Given the description of an element on the screen output the (x, y) to click on. 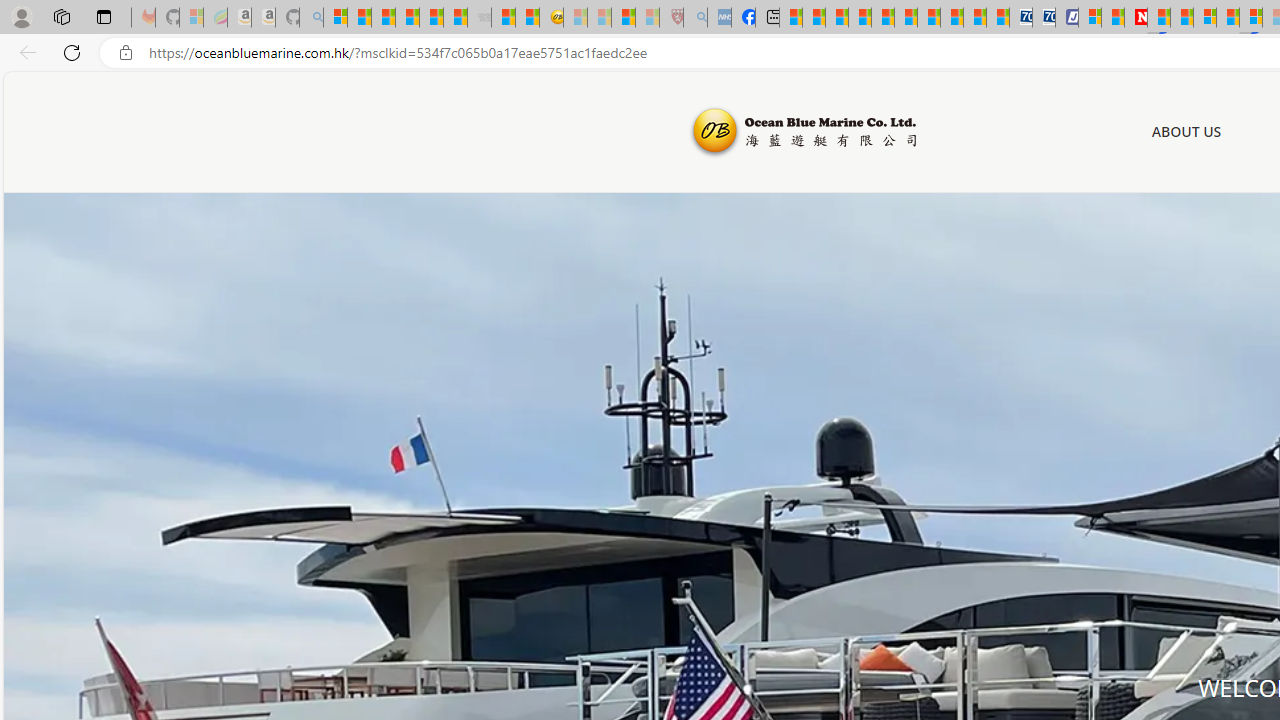
Climate Damage Becomes Too Severe To Reverse (859, 17)
ABOUT US (1186, 132)
Cheap Car Rentals - Save70.com (1020, 17)
ABOUT US (1186, 131)
